Given the description of an element on the screen output the (x, y) to click on. 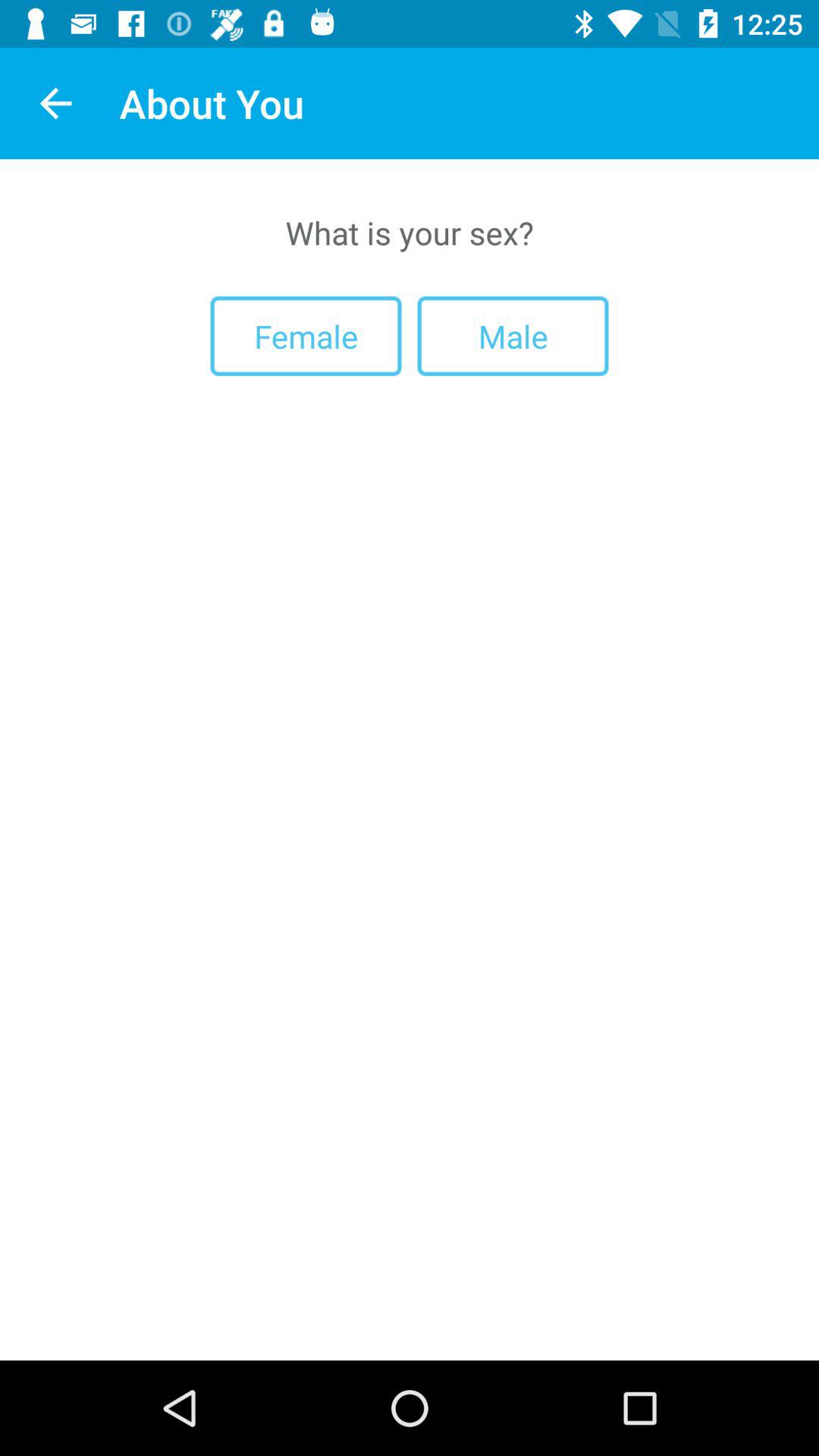
choose the item to the right of female (512, 335)
